Given the description of an element on the screen output the (x, y) to click on. 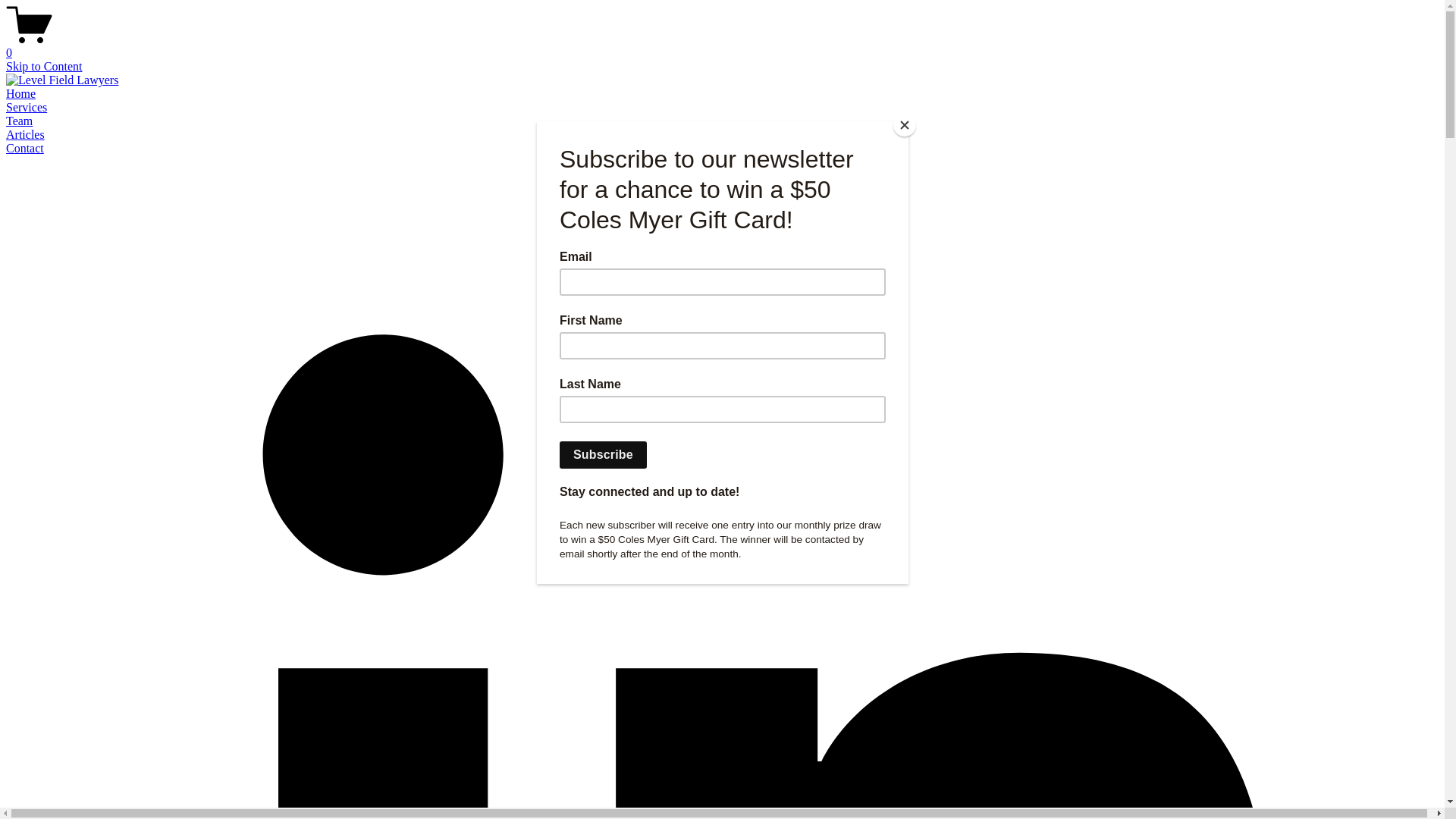
Articles Element type: text (25, 134)
Skip to Content Element type: text (43, 65)
Contact Element type: text (24, 147)
0 Element type: text (728, 45)
Services Element type: text (26, 106)
Home Element type: text (20, 93)
Team Element type: text (19, 120)
